Given the description of an element on the screen output the (x, y) to click on. 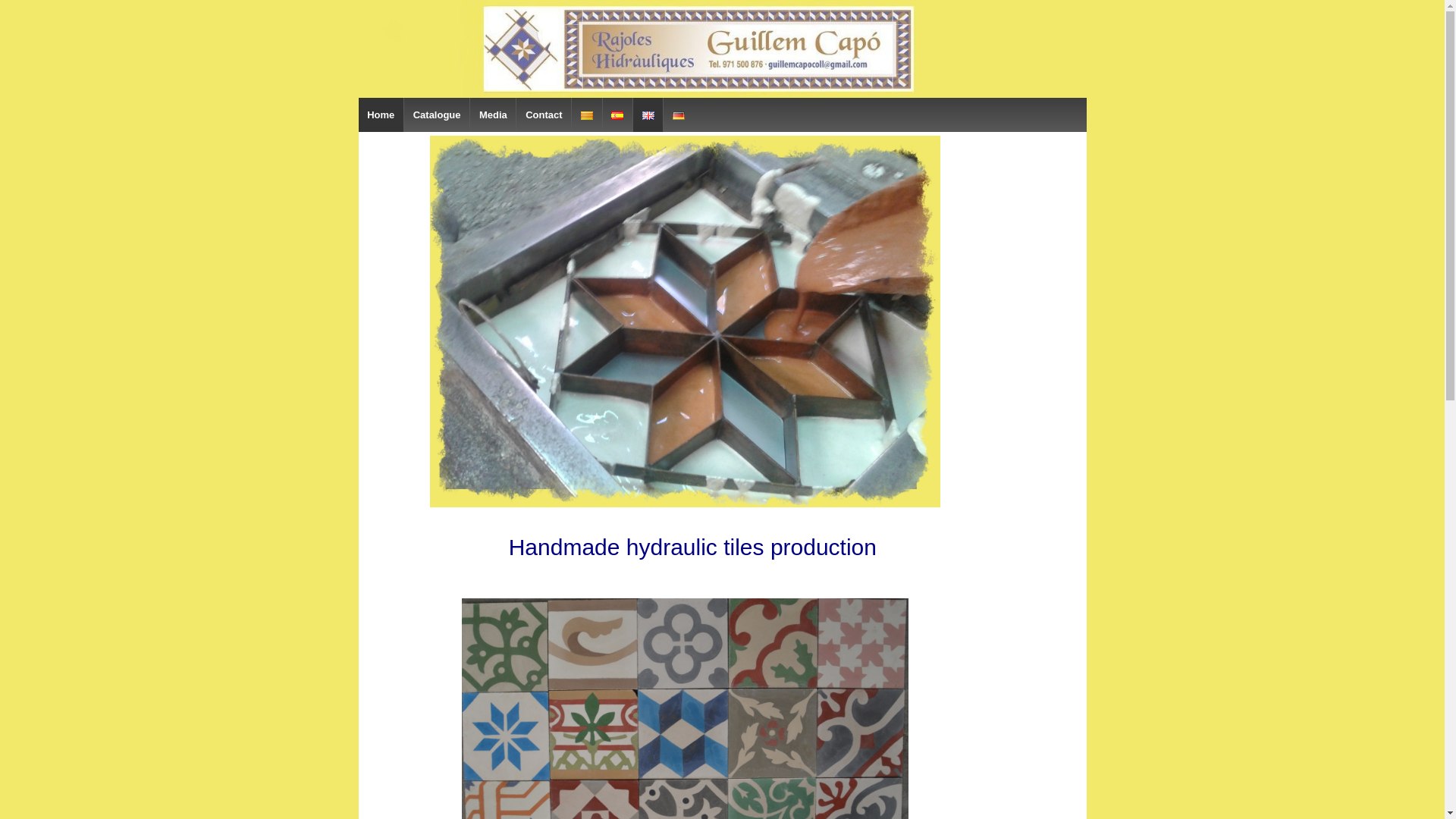
Home (380, 114)
Contact (542, 114)
Catalogue (435, 114)
Media (491, 114)
